Given the description of an element on the screen output the (x, y) to click on. 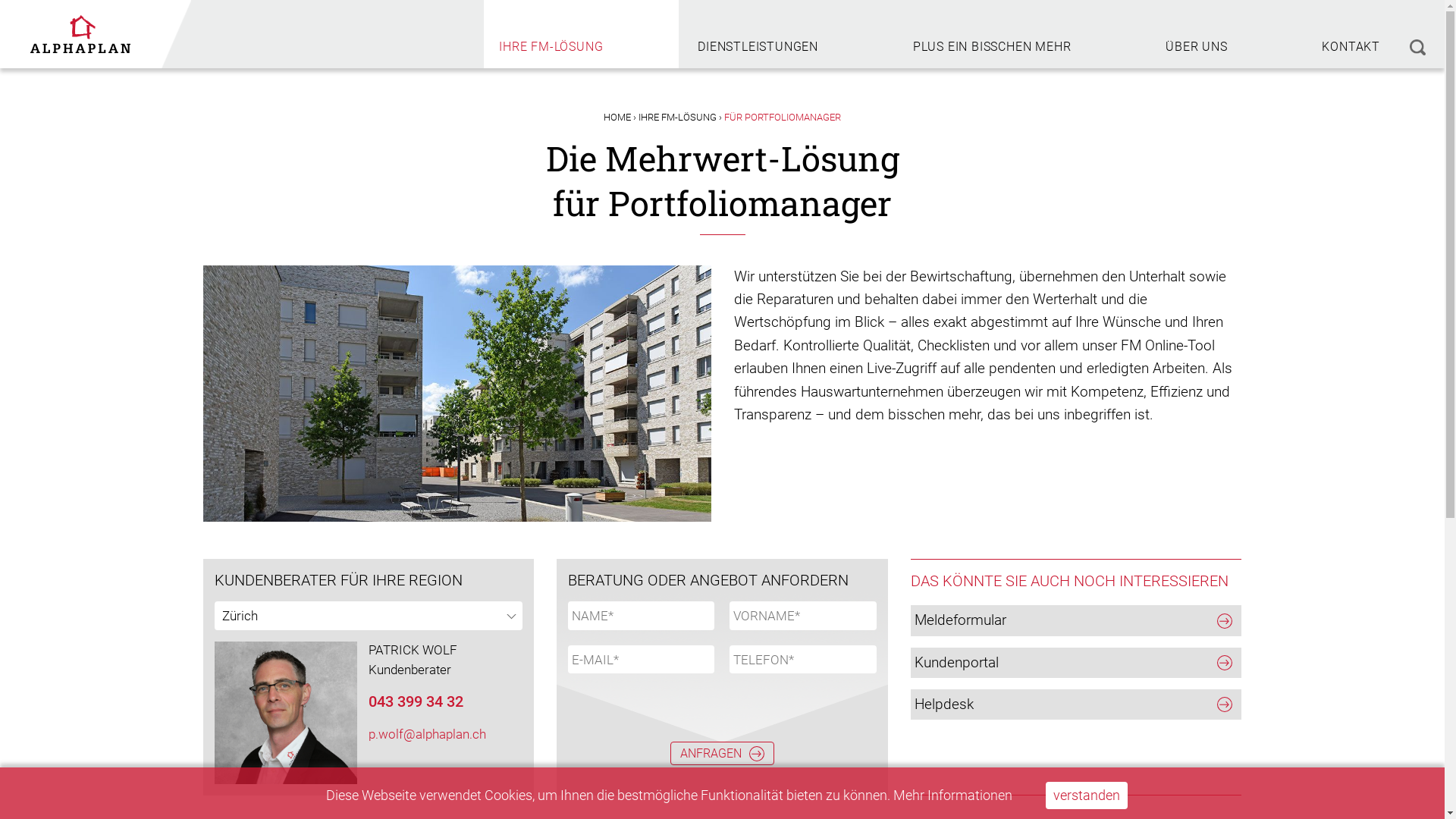
DIENSTLEISTUNGEN Element type: text (757, 33)
Kundenportal Element type: text (1076, 662)
HOME Element type: text (616, 116)
PLUS EIN BISSCHEN MEHR Element type: text (992, 33)
Mehr Informationen Element type: text (952, 795)
043 399 34 32 Element type: text (415, 701)
KONTAKT Element type: text (1350, 33)
Meldeformular Element type: text (1076, 620)
Anfragen Element type: text (722, 753)
p.wolf@alphaplan.ch Element type: text (427, 733)
suchen Element type: text (1417, 34)
Helpdesk Element type: text (1076, 704)
